Given the description of an element on the screen output the (x, y) to click on. 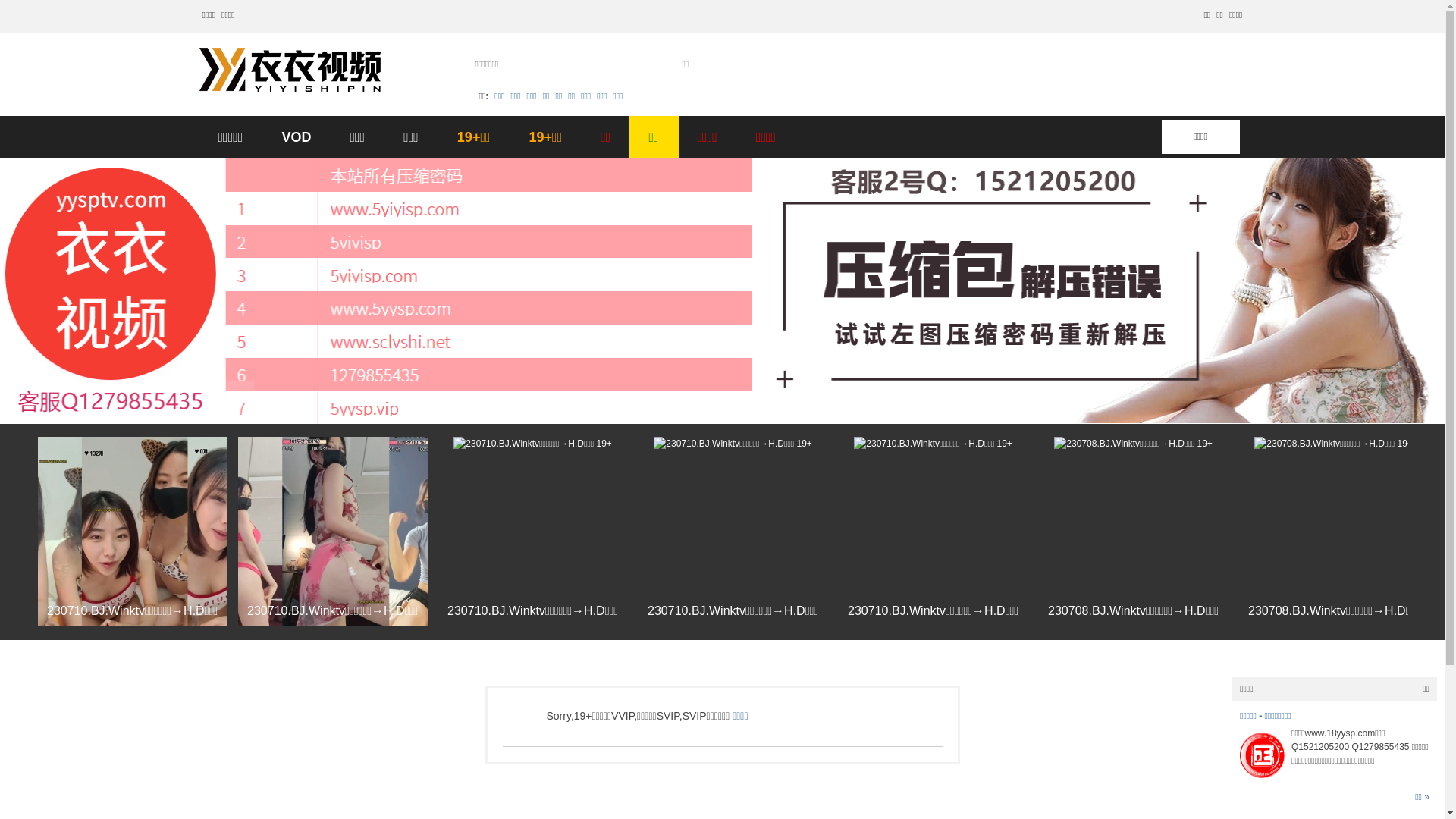
VOD Element type: text (295, 137)
